Given the description of an element on the screen output the (x, y) to click on. 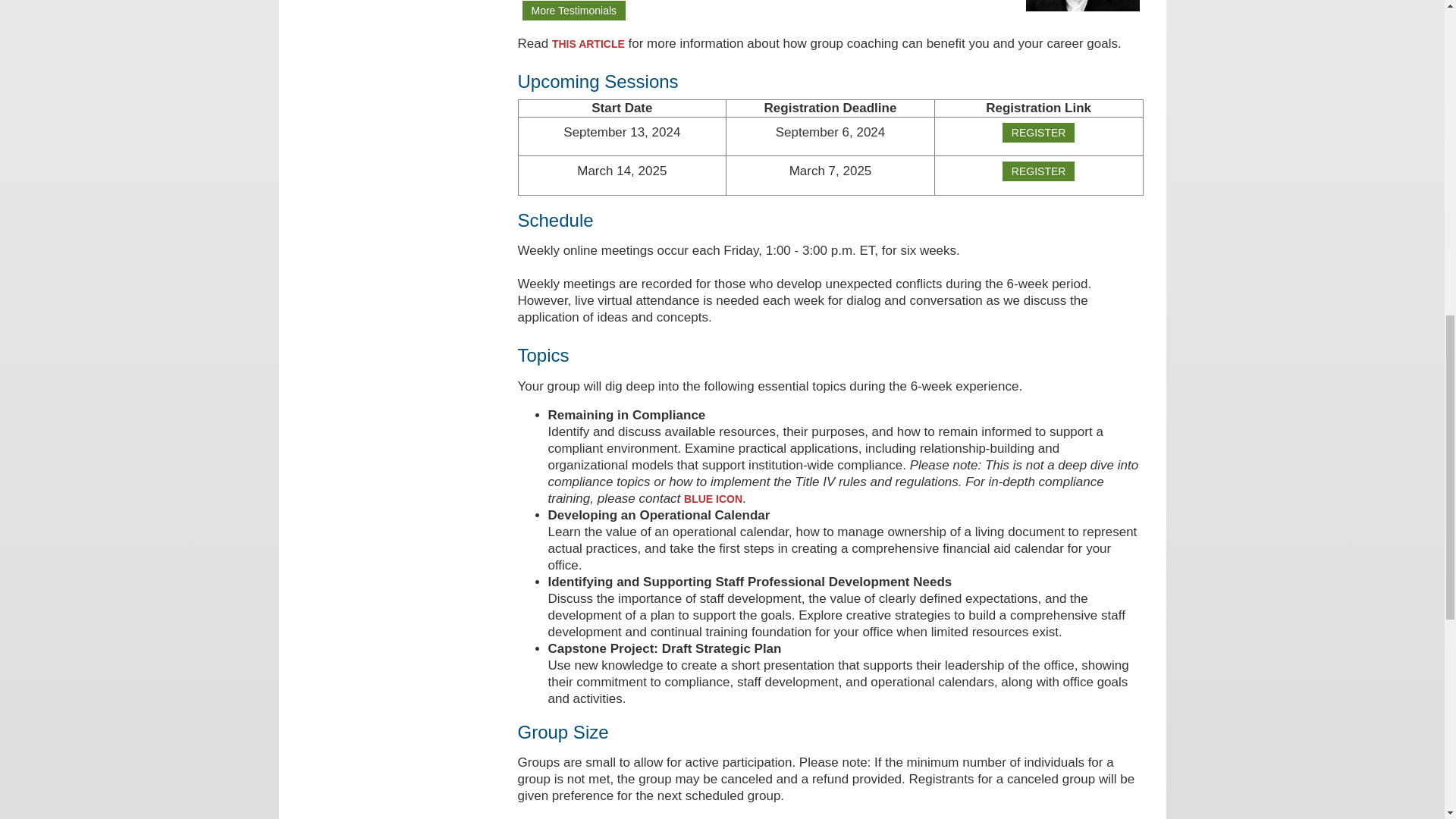
Testimonials (573, 10)
REGISTER (1039, 132)
